Given the description of an element on the screen output the (x, y) to click on. 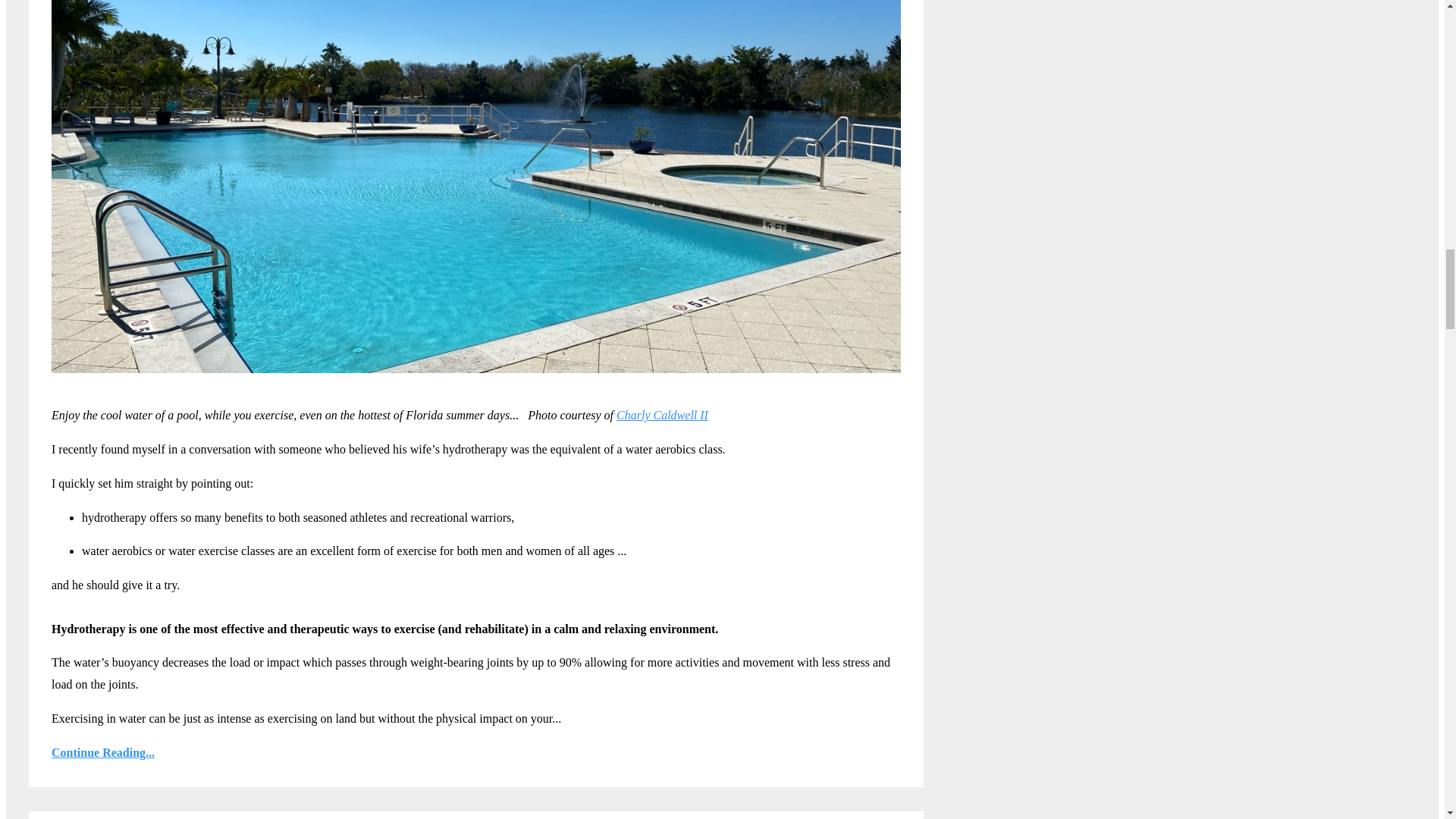
Charly Caldwell II (661, 414)
Continue Reading... (475, 753)
